Given the description of an element on the screen output the (x, y) to click on. 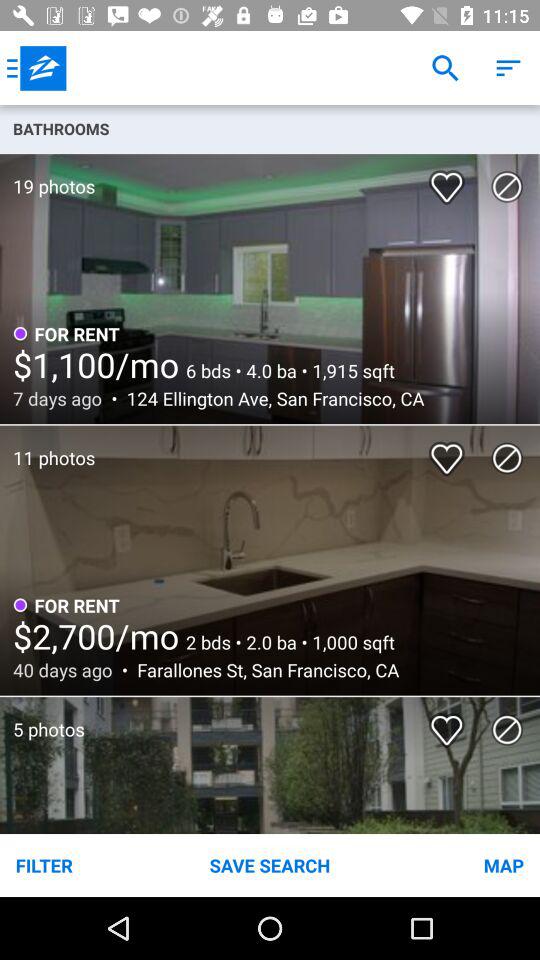
click the icon to the right of the 40 days ago icon (262, 669)
